Given the description of an element on the screen output the (x, y) to click on. 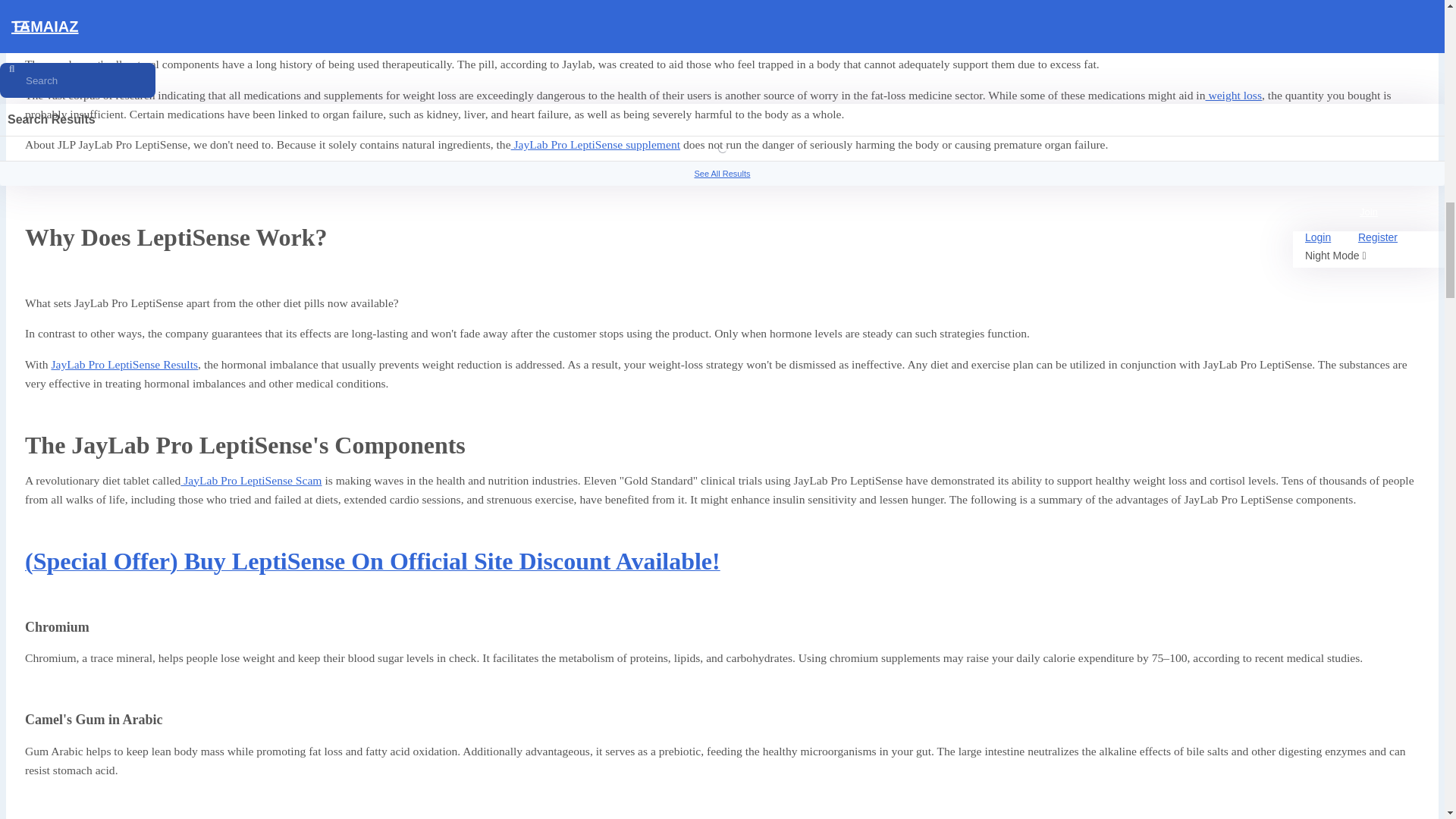
 JayLab Pro LeptiSense Work (389, 33)
 weight loss (1233, 94)
